Given the description of an element on the screen output the (x, y) to click on. 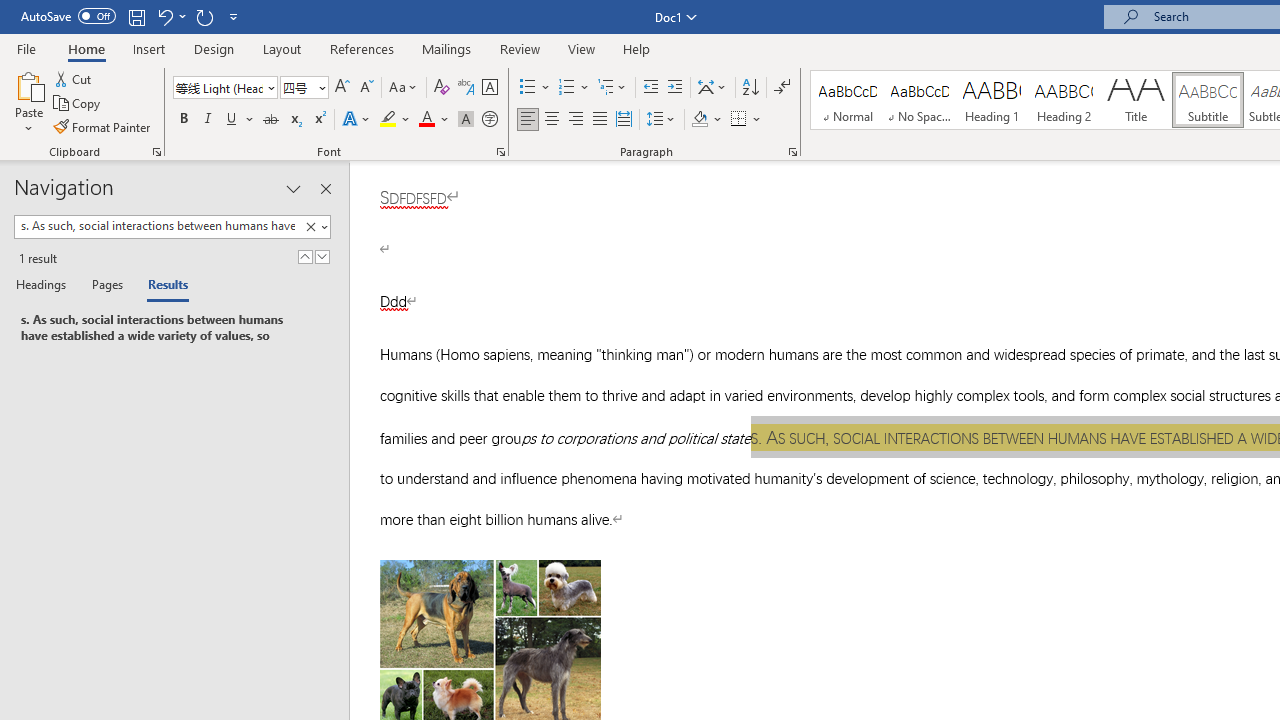
AutoSave (68, 16)
Font Size (297, 87)
Design (214, 48)
Next Result (322, 256)
Multilevel List (613, 87)
Shading (706, 119)
Align Right (575, 119)
Title (1135, 100)
Text Highlight Color (395, 119)
Quick Access Toolbar (131, 16)
Numbering (573, 87)
Headings (45, 285)
Bold (183, 119)
Heading 1 (991, 100)
Subscript (294, 119)
